Given the description of an element on the screen output the (x, y) to click on. 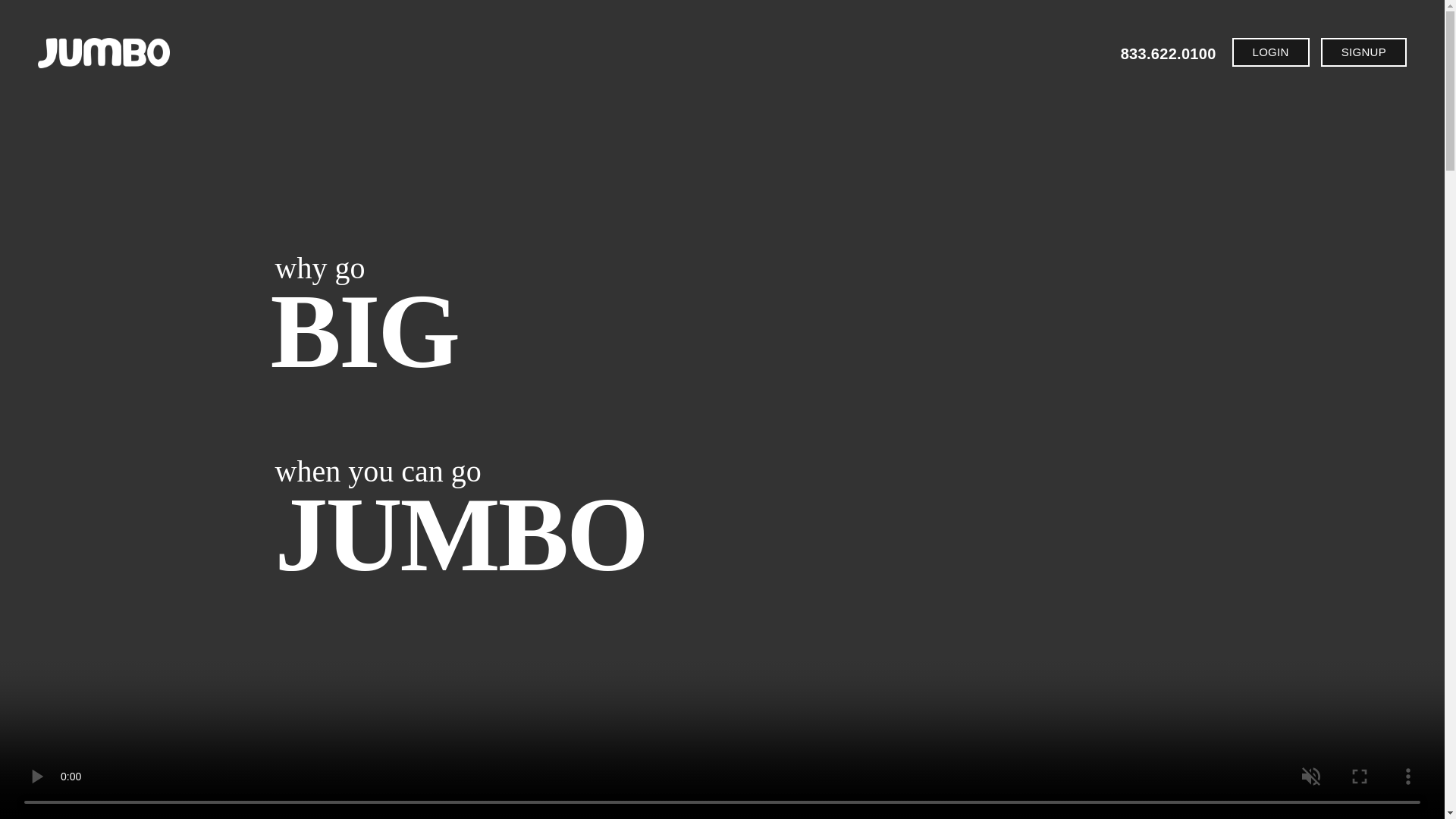
LOGIN (1269, 51)
SIGNUP (1363, 51)
833.622.0100 (1171, 53)
